Given the description of an element on the screen output the (x, y) to click on. 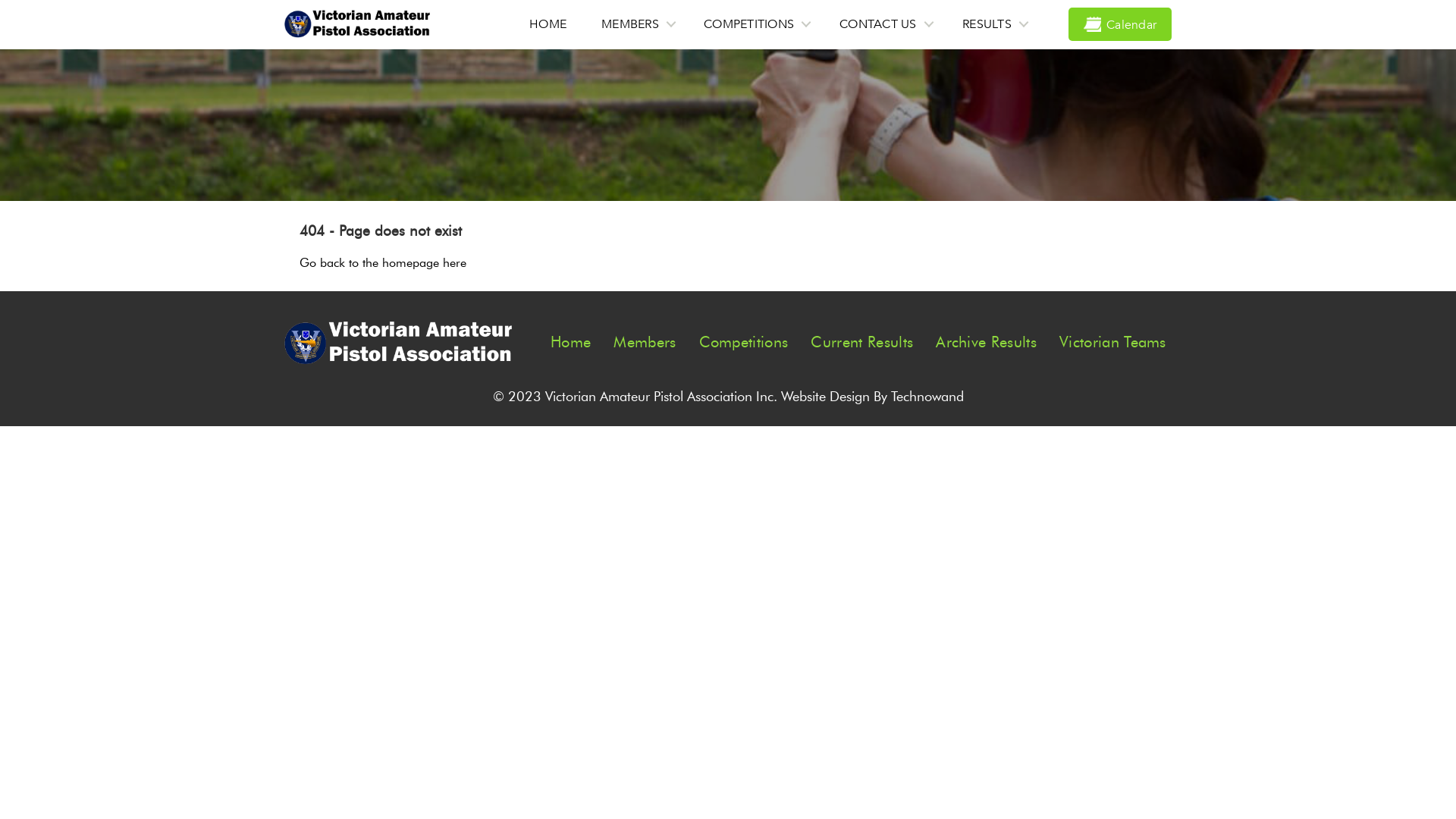
CONTACT US Element type: text (883, 23)
MEMBERS Element type: text (635, 23)
homepage here Element type: text (424, 262)
Members Element type: text (653, 342)
Archive Results Element type: text (995, 342)
COMPETITIONS Element type: text (754, 23)
Competitions Element type: text (753, 342)
Home Element type: text (579, 342)
Current Results Element type: text (870, 342)
Technowand Element type: text (926, 396)
HOME Element type: text (547, 23)
RESULTS Element type: text (992, 23)
Victorian Teams Element type: text (1112, 342)
Calendar Element type: text (1119, 23)
